Given the description of an element on the screen output the (x, y) to click on. 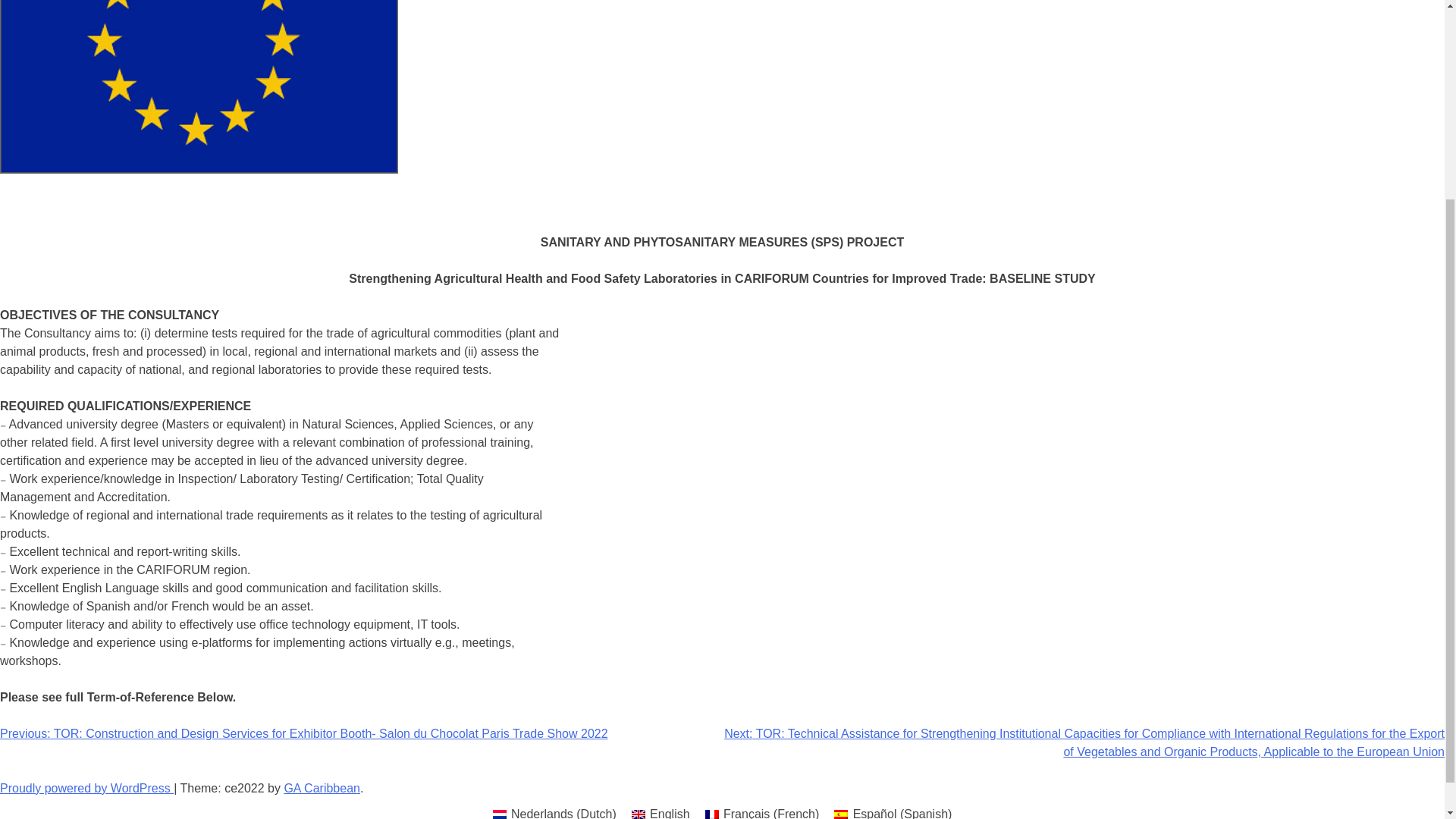
GA Caribbean (321, 788)
Proudly powered by WordPress (86, 788)
